Given the description of an element on the screen output the (x, y) to click on. 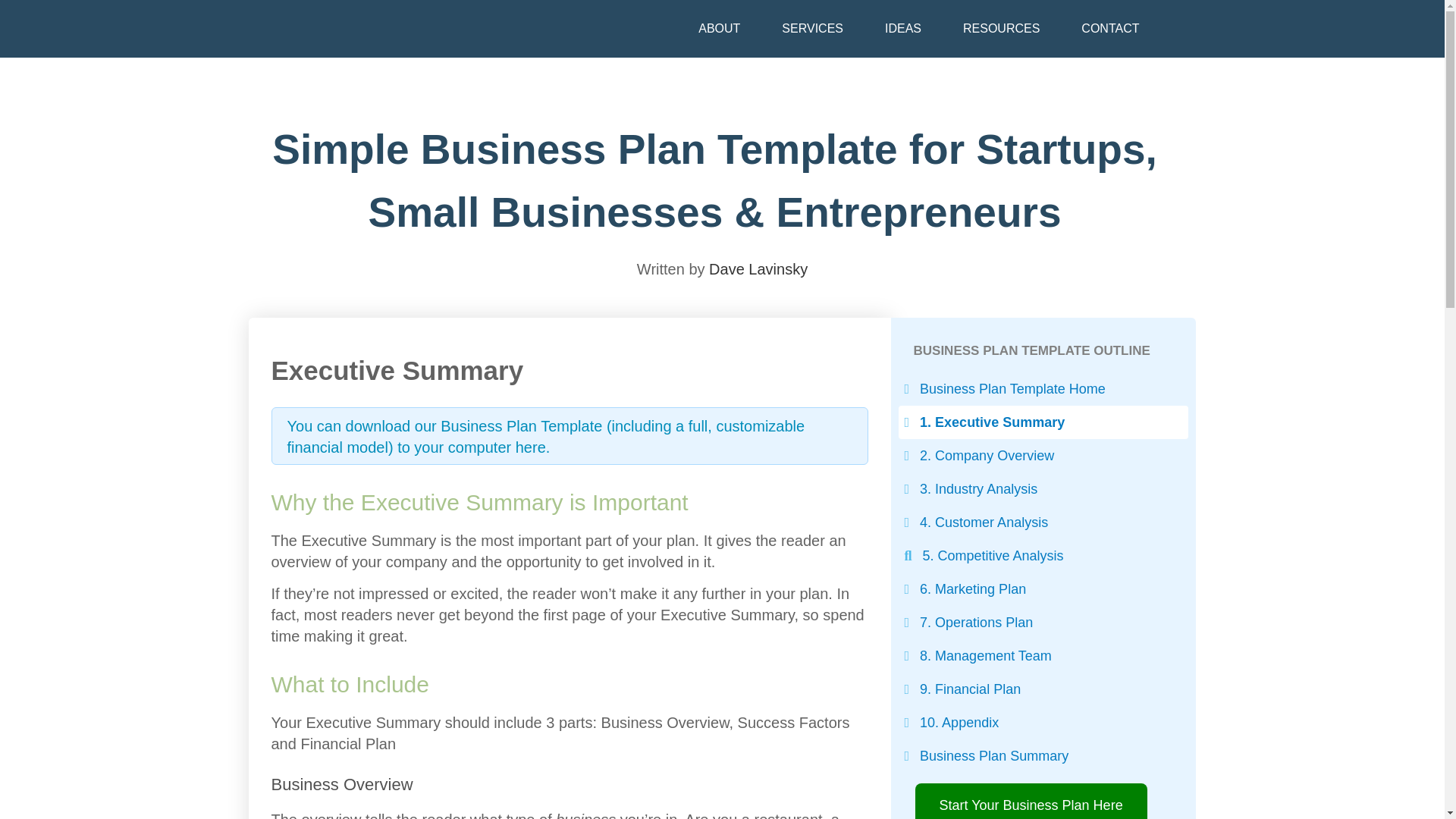
ABOUT (718, 28)
SERVICES (813, 28)
RESOURCES (1000, 28)
IDEAS (902, 28)
CONTACT (1109, 28)
